Given the description of an element on the screen output the (x, y) to click on. 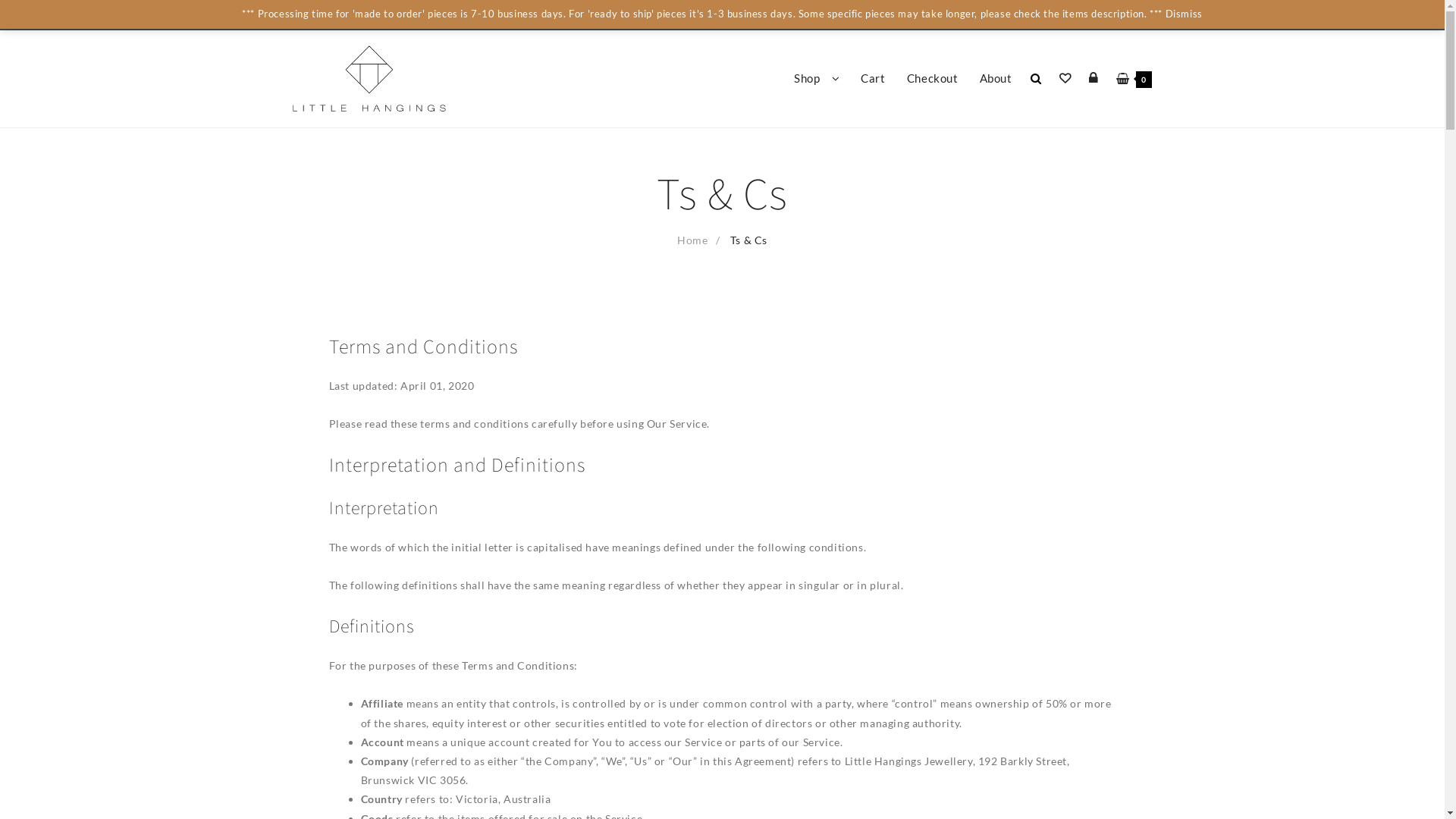
Shop Element type: text (816, 78)
0 Element type: text (1133, 78)
Home Element type: text (692, 239)
Checkout Element type: text (932, 78)
Cart Element type: text (872, 78)
Dismiss Element type: text (1183, 13)
About Element type: text (995, 78)
